Given the description of an element on the screen output the (x, y) to click on. 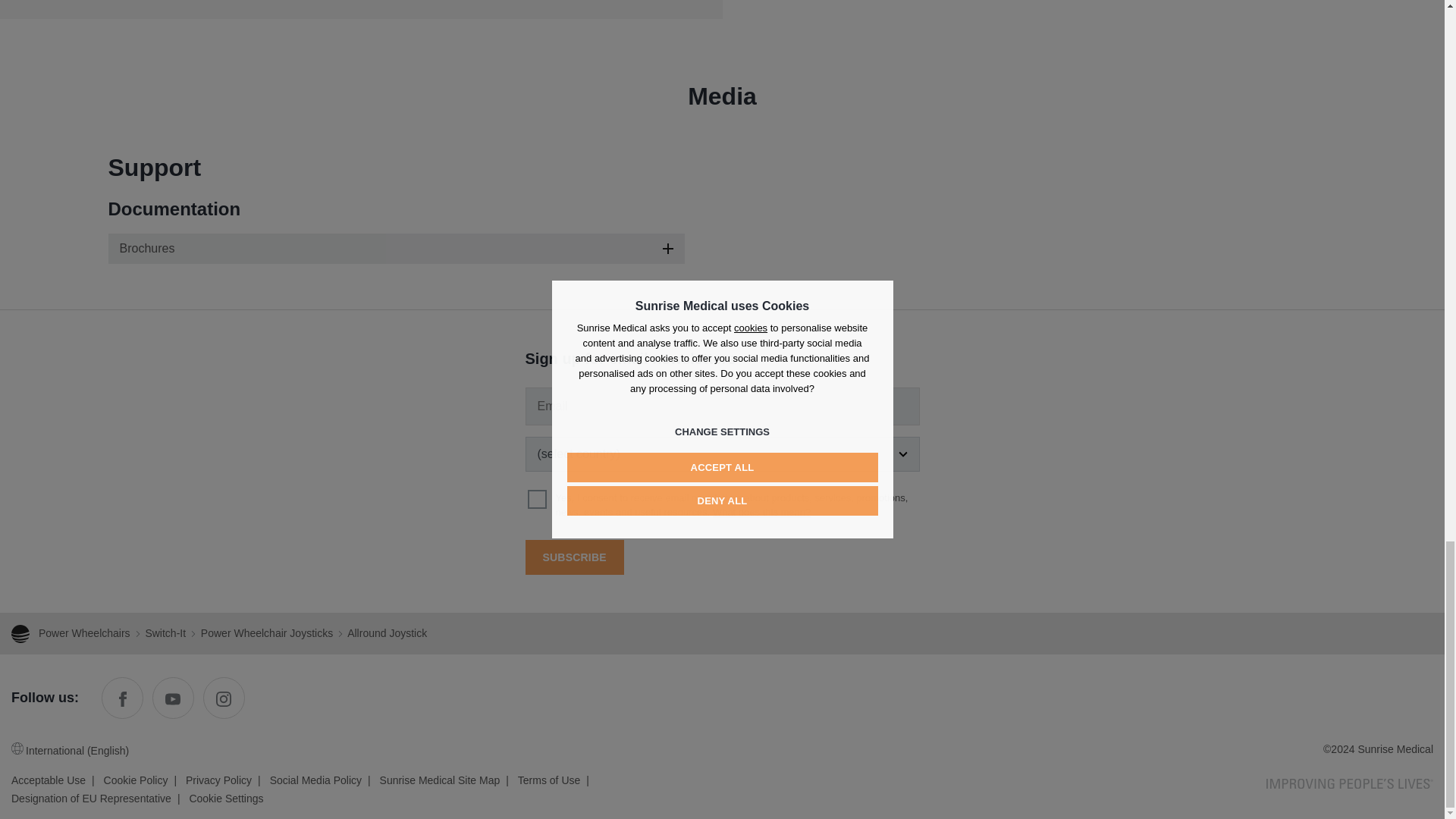
Subscribe (573, 556)
